Given the description of an element on the screen output the (x, y) to click on. 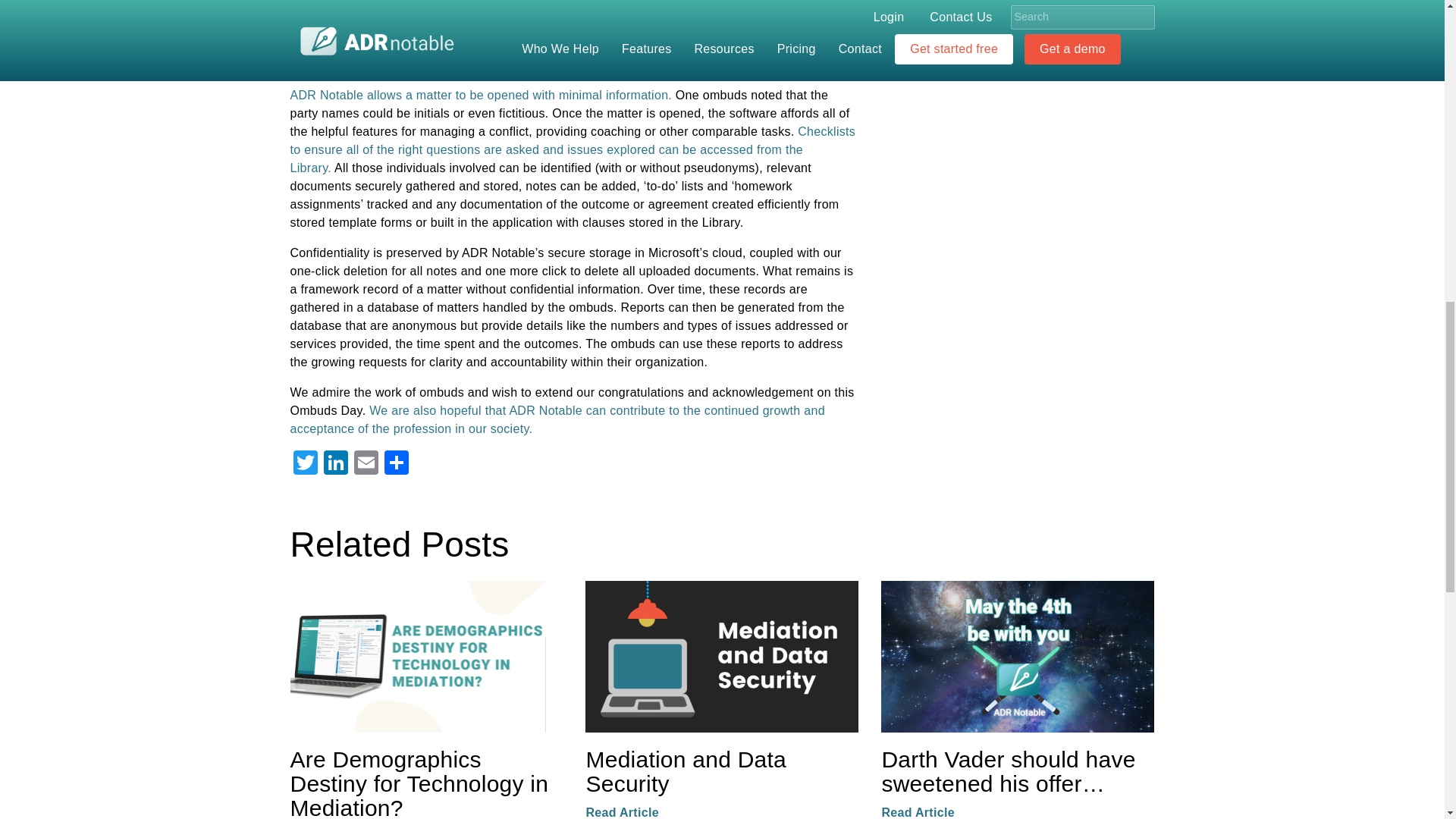
Twitter (304, 464)
Email (365, 464)
LinkedIn (335, 464)
